Given the description of an element on the screen output the (x, y) to click on. 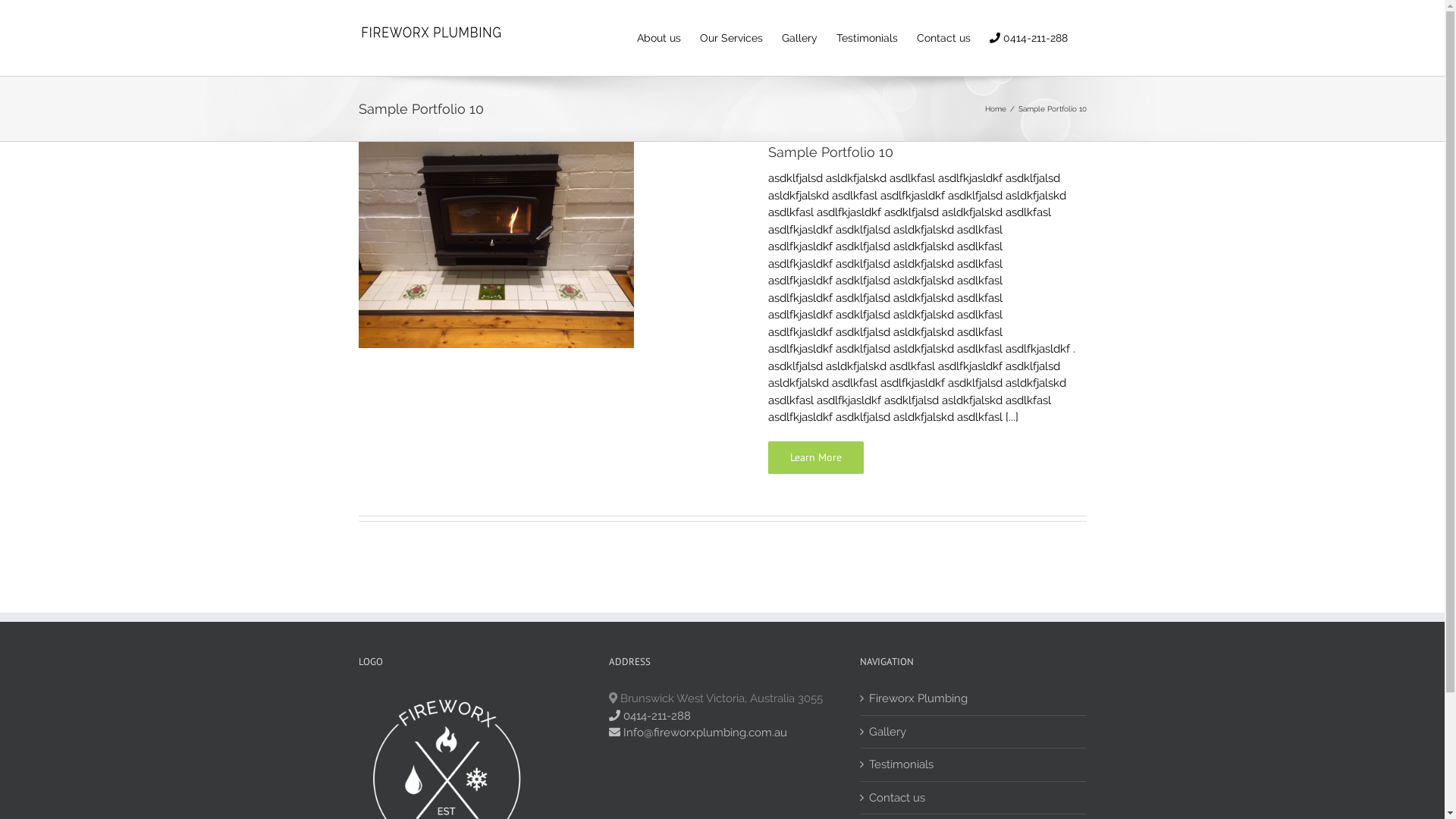
0414-211-288 Element type: text (649, 714)
Testimonials Element type: text (974, 764)
Fireworx Plumbing Element type: text (974, 698)
Contact us Element type: text (974, 797)
Home Element type: text (994, 108)
Gallery Element type: text (974, 731)
Contact us Element type: text (942, 37)
Info@fireworxplumbing.com.au Element type: text (697, 732)
About us Element type: text (658, 37)
0414-211-288 Element type: text (1027, 37)
Our Services Element type: text (730, 37)
Testimonials Element type: text (866, 37)
Sample Portfolio 10 Element type: text (829, 152)
Learn More Element type: text (814, 457)
Gallery Element type: text (798, 37)
